Given the description of an element on the screen output the (x, y) to click on. 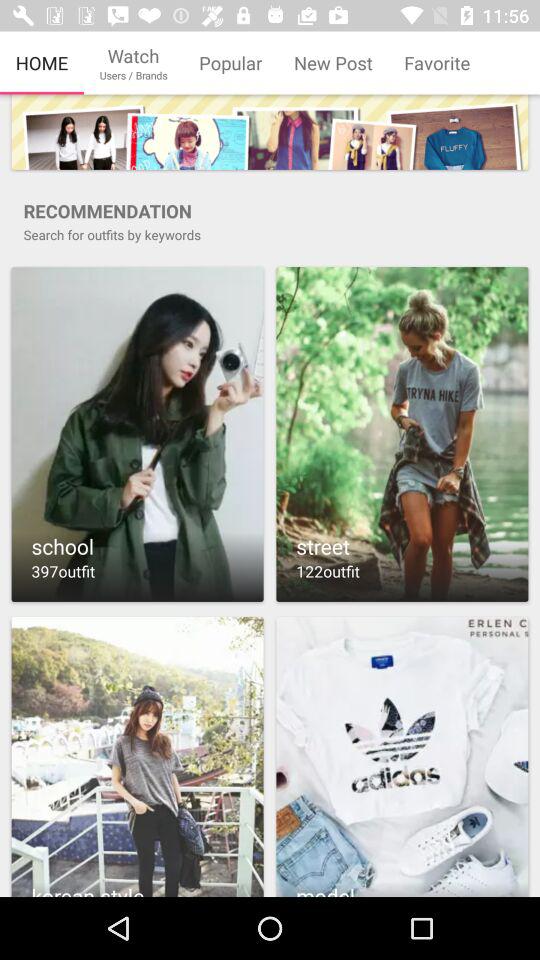
choose item above recommendation (269, 132)
